Given the description of an element on the screen output the (x, y) to click on. 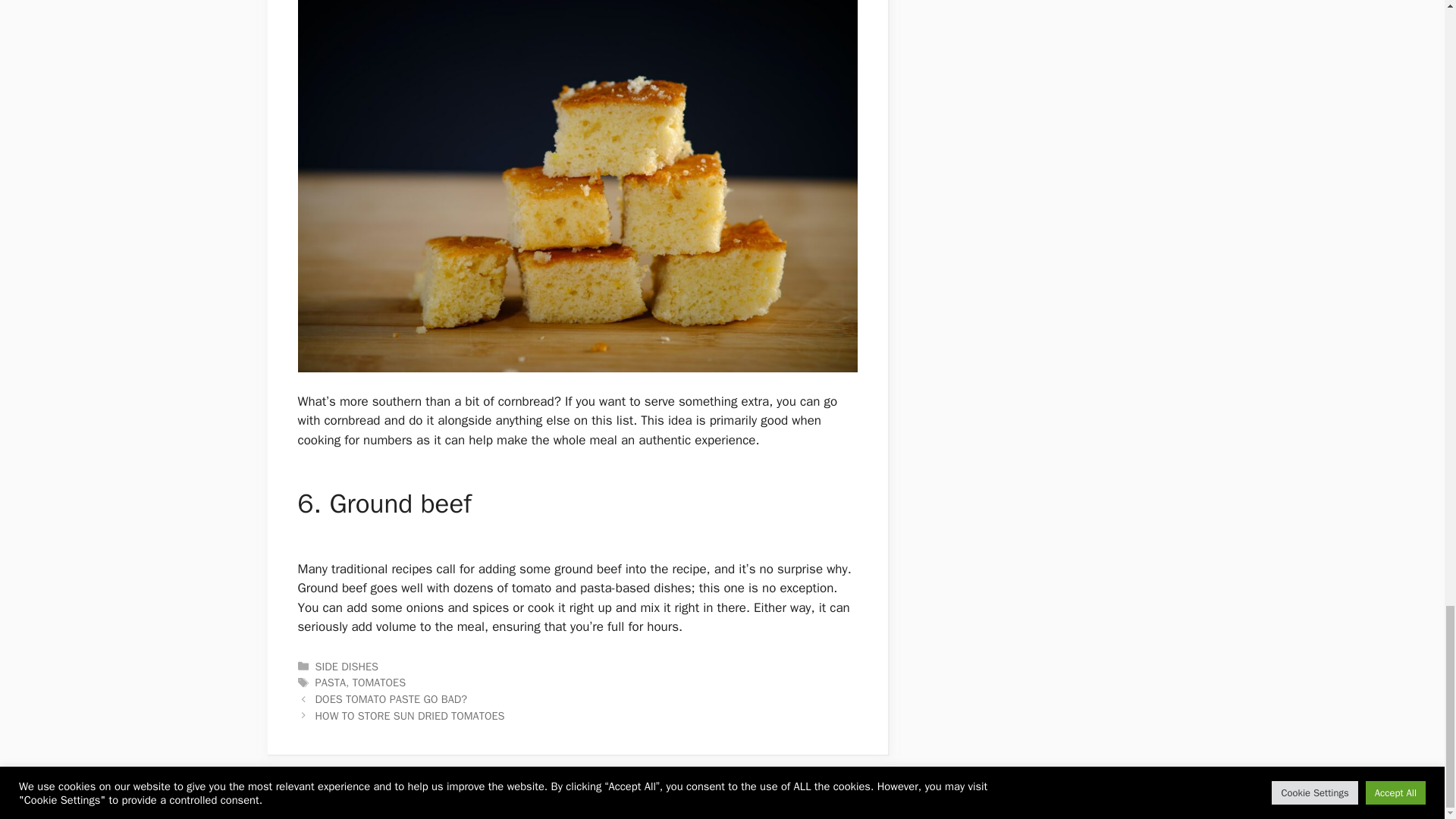
DOES TOMATO PASTE GO BAD? (391, 698)
SIDE DISHES (346, 666)
TOMATOES (379, 682)
ABOUT (986, 794)
PASTA (330, 682)
Previous (391, 698)
CONTACT (1037, 794)
HOW TO STORE SUN DRIED TOMATOES (410, 715)
Next (410, 715)
PRIVACY POLICY (1110, 794)
